Given the description of an element on the screen output the (x, y) to click on. 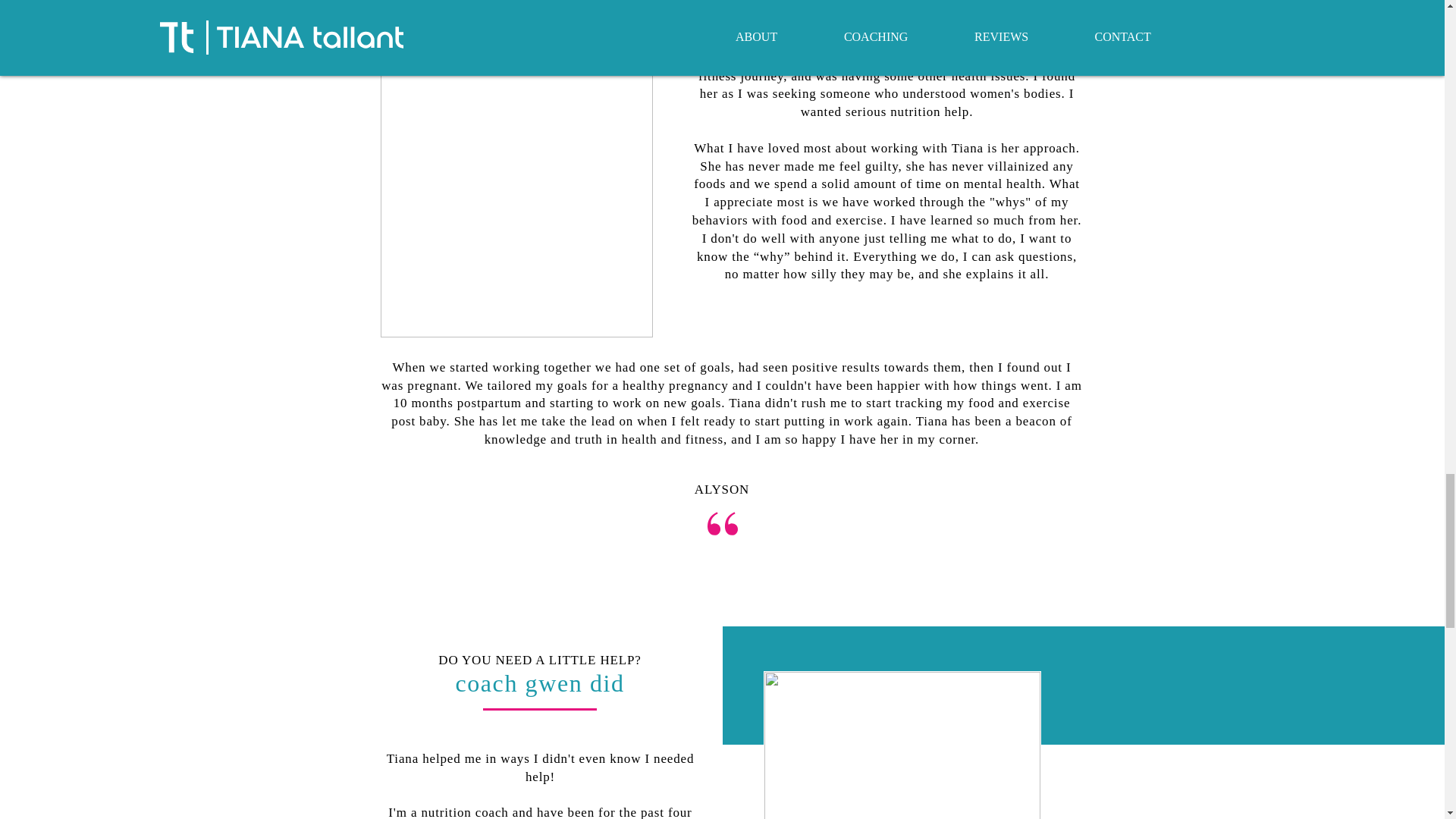
image5.jpg (901, 744)
